Given the description of an element on the screen output the (x, y) to click on. 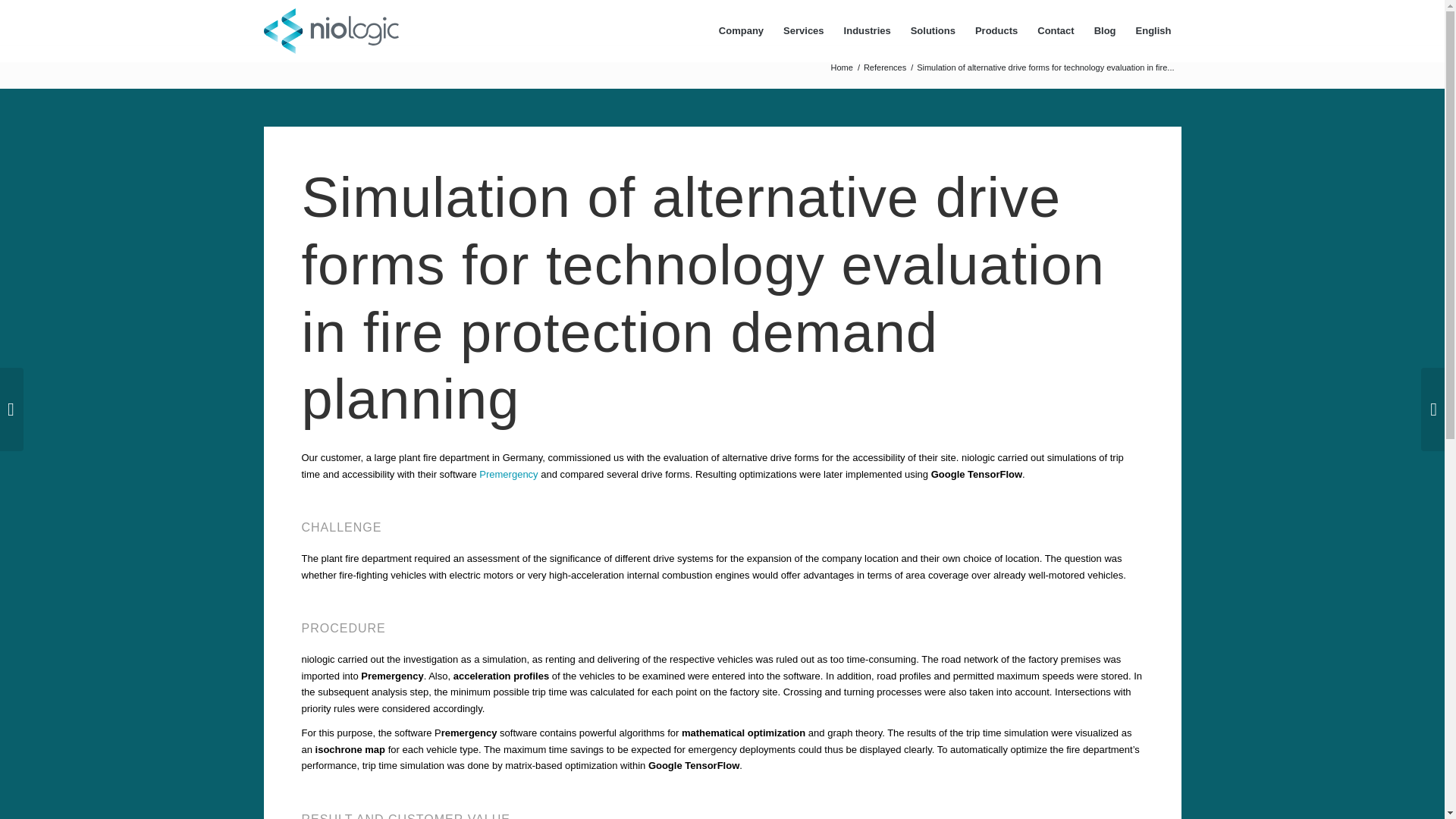
Solutions (933, 31)
Products (996, 31)
Company (741, 31)
Services (803, 31)
niologic GmbH (842, 67)
Premergency (508, 473)
Contact (1055, 31)
Blog (1104, 31)
Industries (867, 31)
English (1152, 31)
Home (842, 67)
English (1152, 31)
References (884, 67)
References (884, 67)
